Given the description of an element on the screen output the (x, y) to click on. 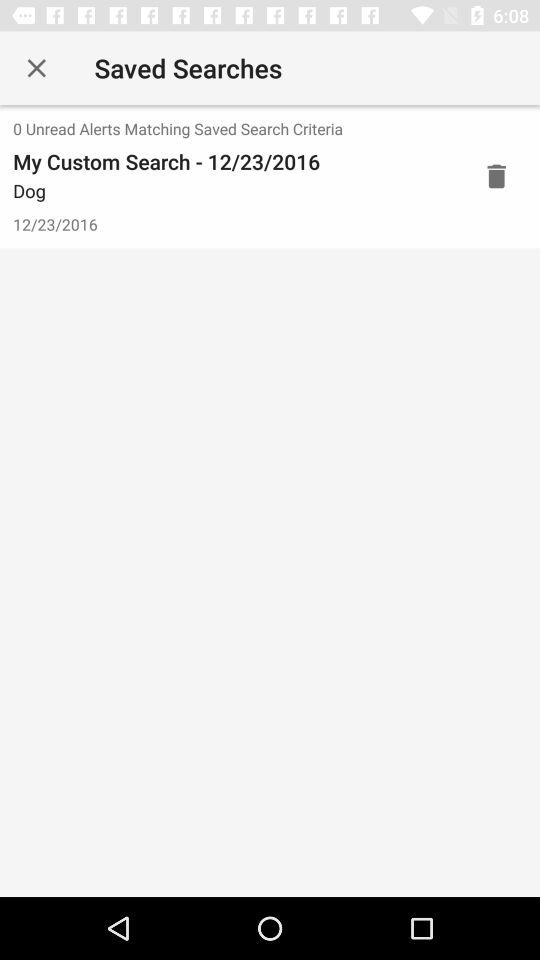
delete (496, 176)
